Given the description of an element on the screen output the (x, y) to click on. 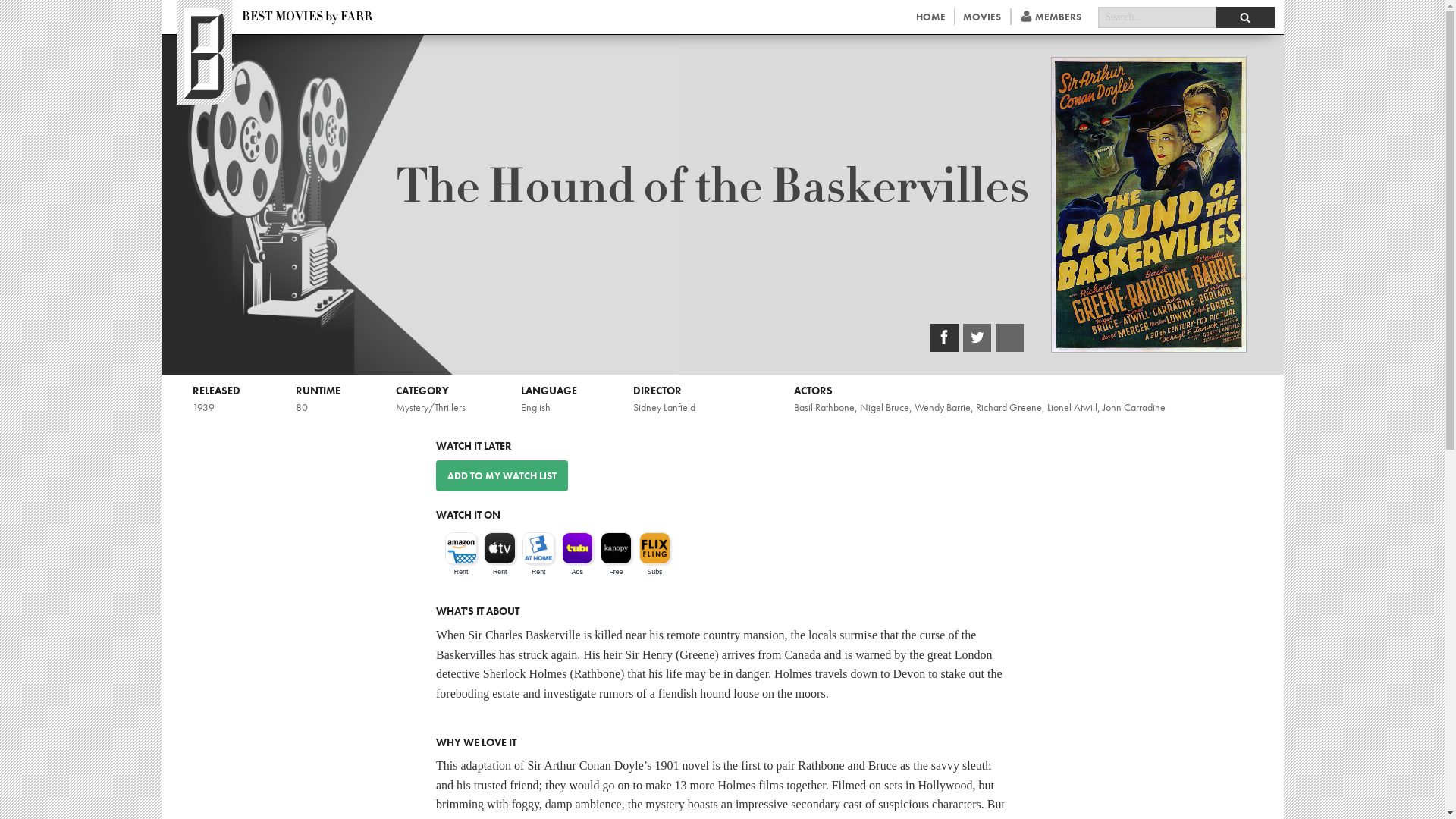
ADD TO MY WATCH LIST (501, 475)
Nigel Bruce (884, 407)
Sidney Lanfield (662, 407)
BEST MOVIES by FARR (306, 17)
HOME (930, 17)
MOVIES (982, 17)
Richard Greene (1008, 407)
John Carradine (1134, 407)
English (535, 407)
MEMBERS (1050, 17)
